Given the description of an element on the screen output the (x, y) to click on. 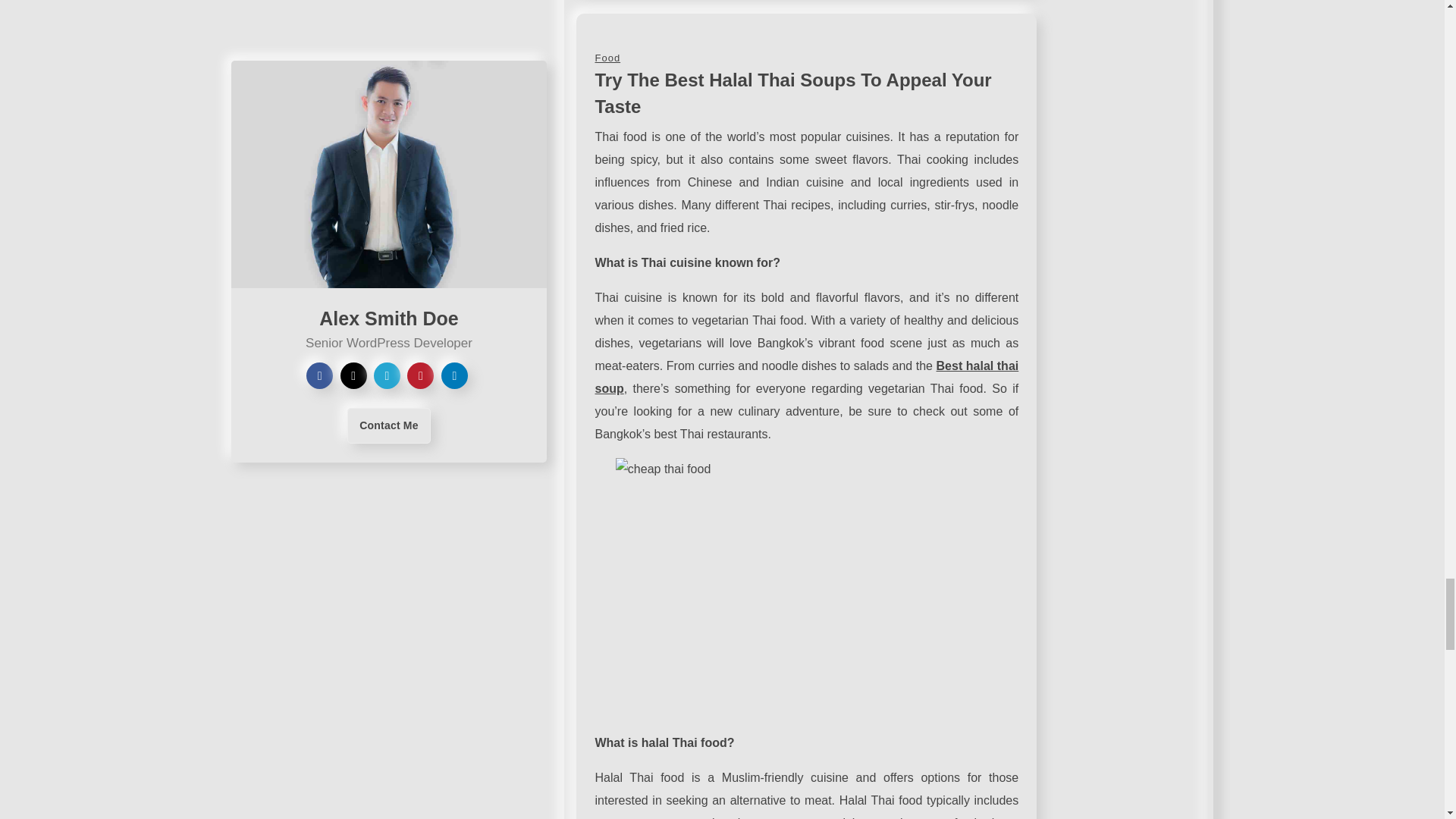
Try The Best Halal Thai Soups To Appeal Your Taste (792, 93)
Best halal thai soup (805, 376)
Food (607, 57)
